Given the description of an element on the screen output the (x, y) to click on. 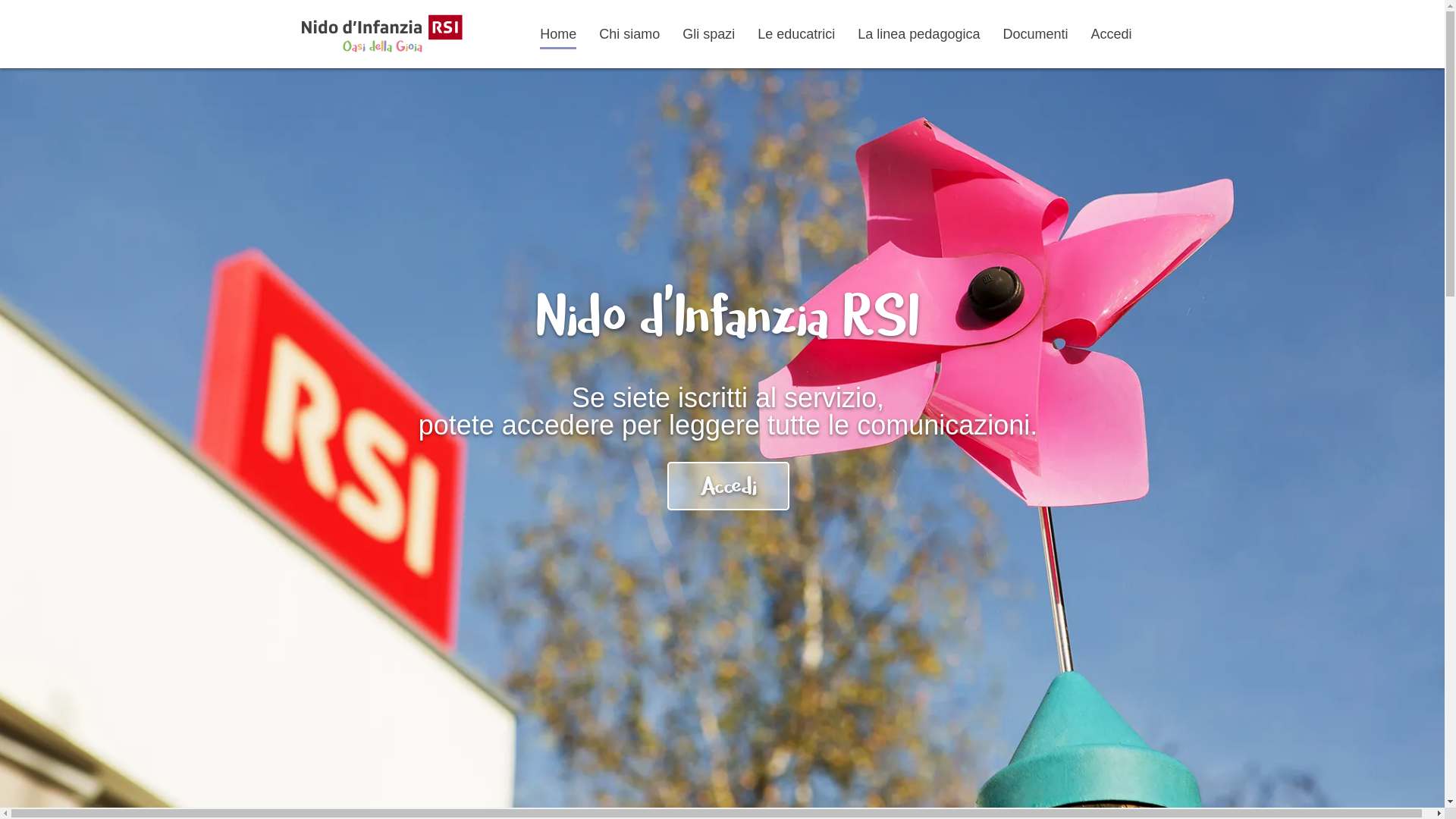
Accedi Element type: text (728, 485)
La linea pedagogica Element type: text (918, 32)
Gli spazi Element type: text (708, 32)
Documenti Element type: text (1034, 32)
Home Element type: text (557, 33)
Chi siamo Element type: text (629, 32)
Le educatrici Element type: text (795, 32)
Accedi Element type: text (1110, 32)
